Given the description of an element on the screen output the (x, y) to click on. 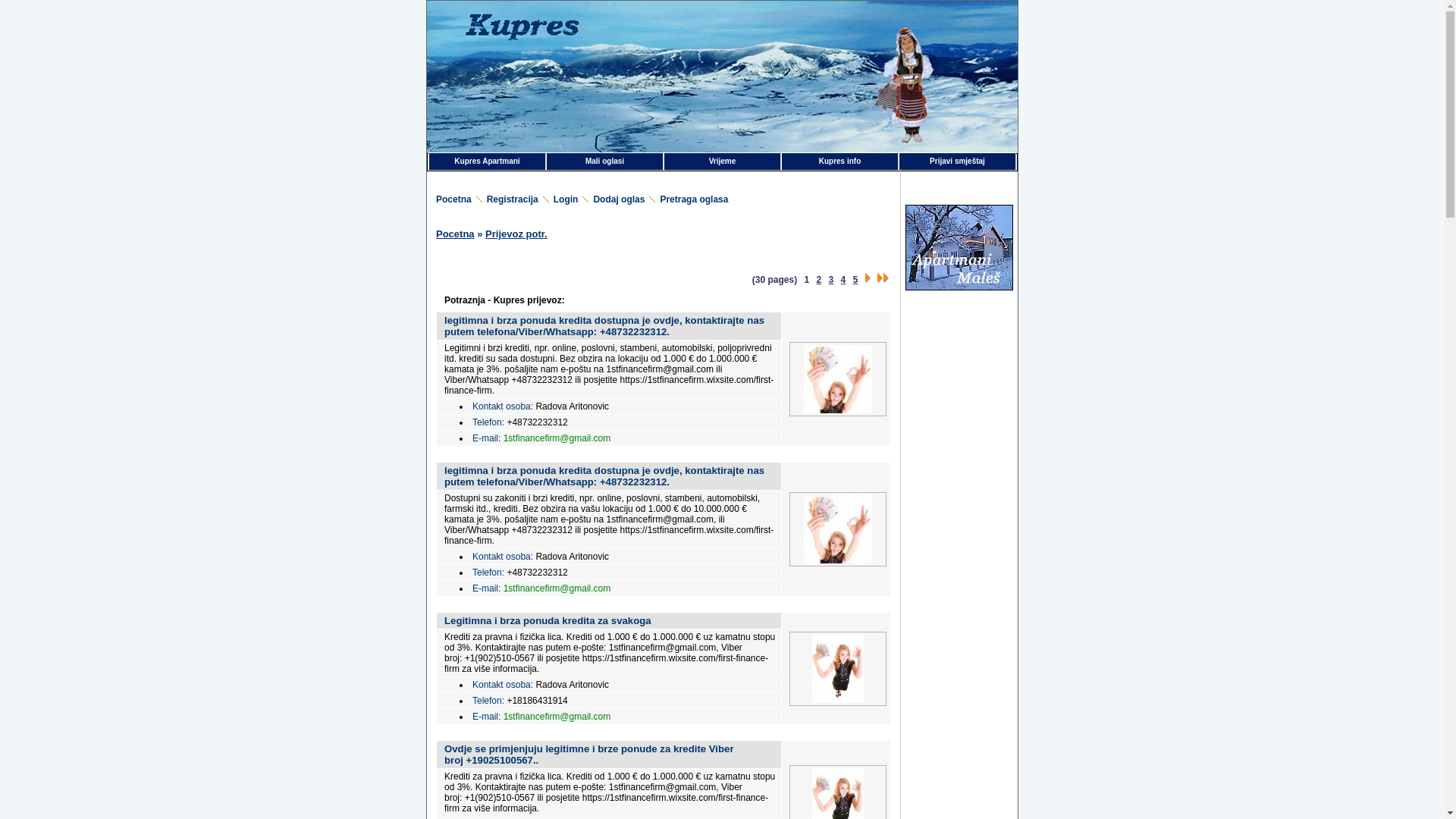
next Element type: hover (867, 277)
Advertisement Element type: hover (958, 445)
2 Element type: text (819, 279)
last Element type: hover (882, 277)
3 Element type: text (831, 279)
Login Element type: text (573, 199)
Pretraga oglasa Element type: text (701, 199)
Vrijeme Element type: text (722, 161)
Advertisement Element type: hover (958, 366)
Legitimna i brza ponuda kredita za svakoga Element type: text (547, 620)
Advertisement Element type: hover (958, 592)
4 Element type: text (843, 279)
Prijevoz potr. Element type: text (516, 233)
Kupres Apartmani Element type: text (487, 161)
Dodaj oglas Element type: text (626, 199)
Pocetna Element type: text (455, 233)
5 Element type: text (855, 279)
Registracija Element type: text (519, 199)
Pocetna Element type: text (461, 199)
Kupres info Element type: text (839, 161)
Mali oglasi Element type: text (604, 161)
